Given the description of an element on the screen output the (x, y) to click on. 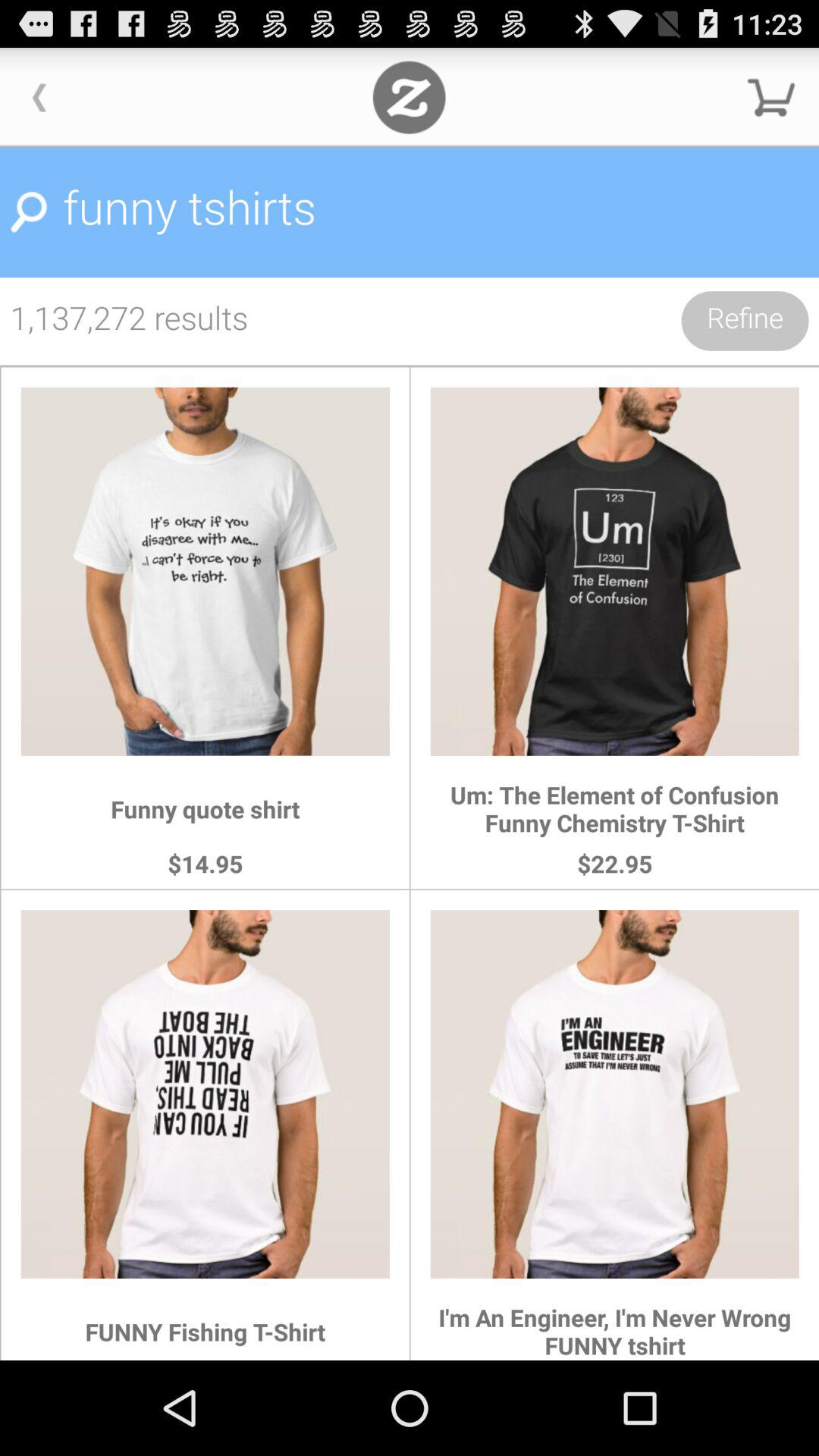
choose the icon to the right of 1 137 272 icon (744, 320)
